Given the description of an element on the screen output the (x, y) to click on. 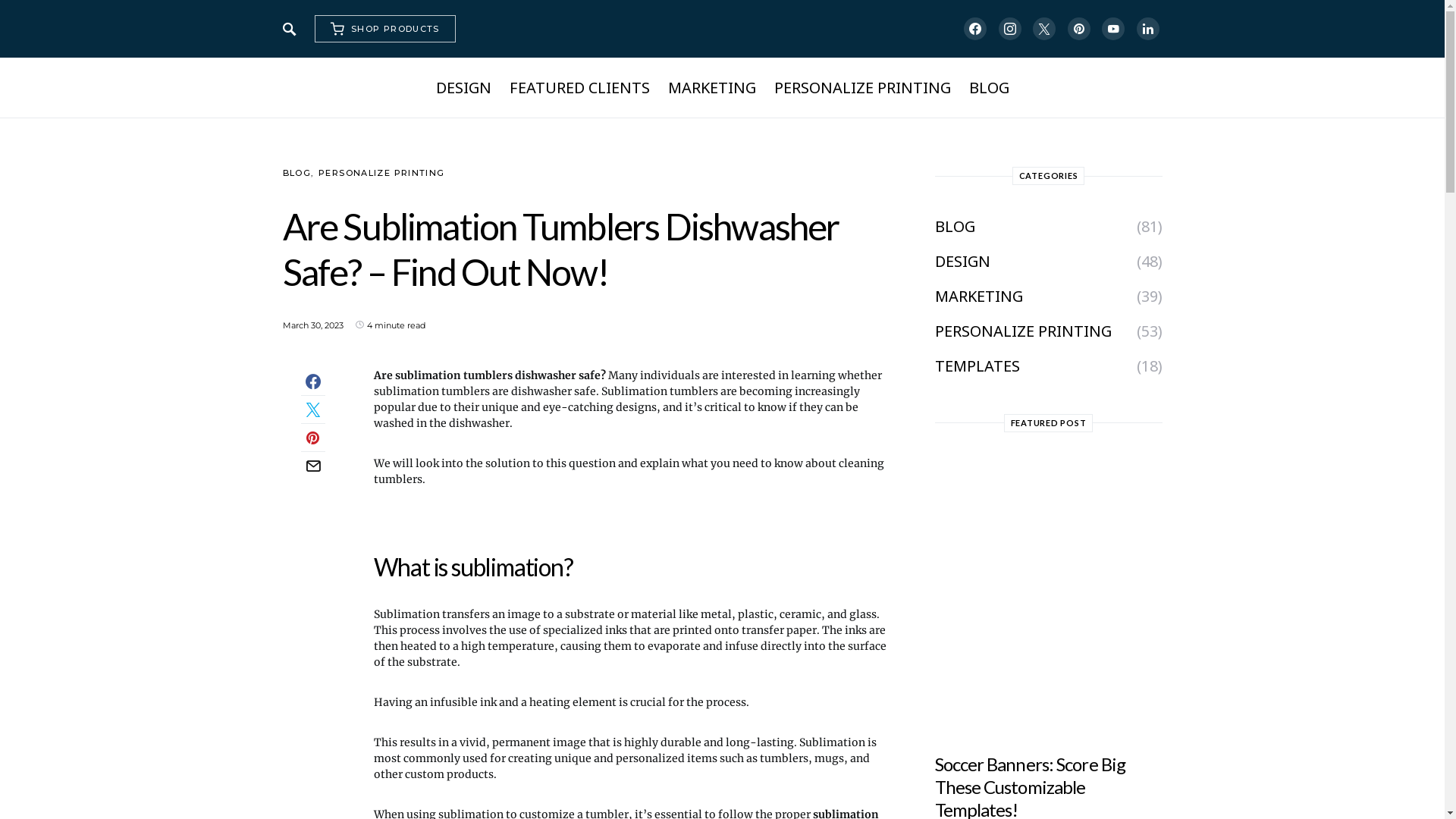
DESIGN Element type: text (965, 261)
BLOG Element type: text (958, 226)
PERSONALIZE PRINTING Element type: text (1026, 331)
MARKETING Element type: text (982, 296)
DESIGN Element type: text (467, 87)
TEMPLATES Element type: text (980, 365)
PERSONALIZE PRINTING Element type: text (381, 172)
SHOP PRODUCTS Element type: text (384, 28)
MARKETING Element type: text (711, 87)
PERSONALIZE PRINTING Element type: text (861, 87)
FEATURED CLIENTS Element type: text (579, 87)
BLOG Element type: text (296, 172)
BLOG Element type: text (984, 87)
